Given the description of an element on the screen output the (x, y) to click on. 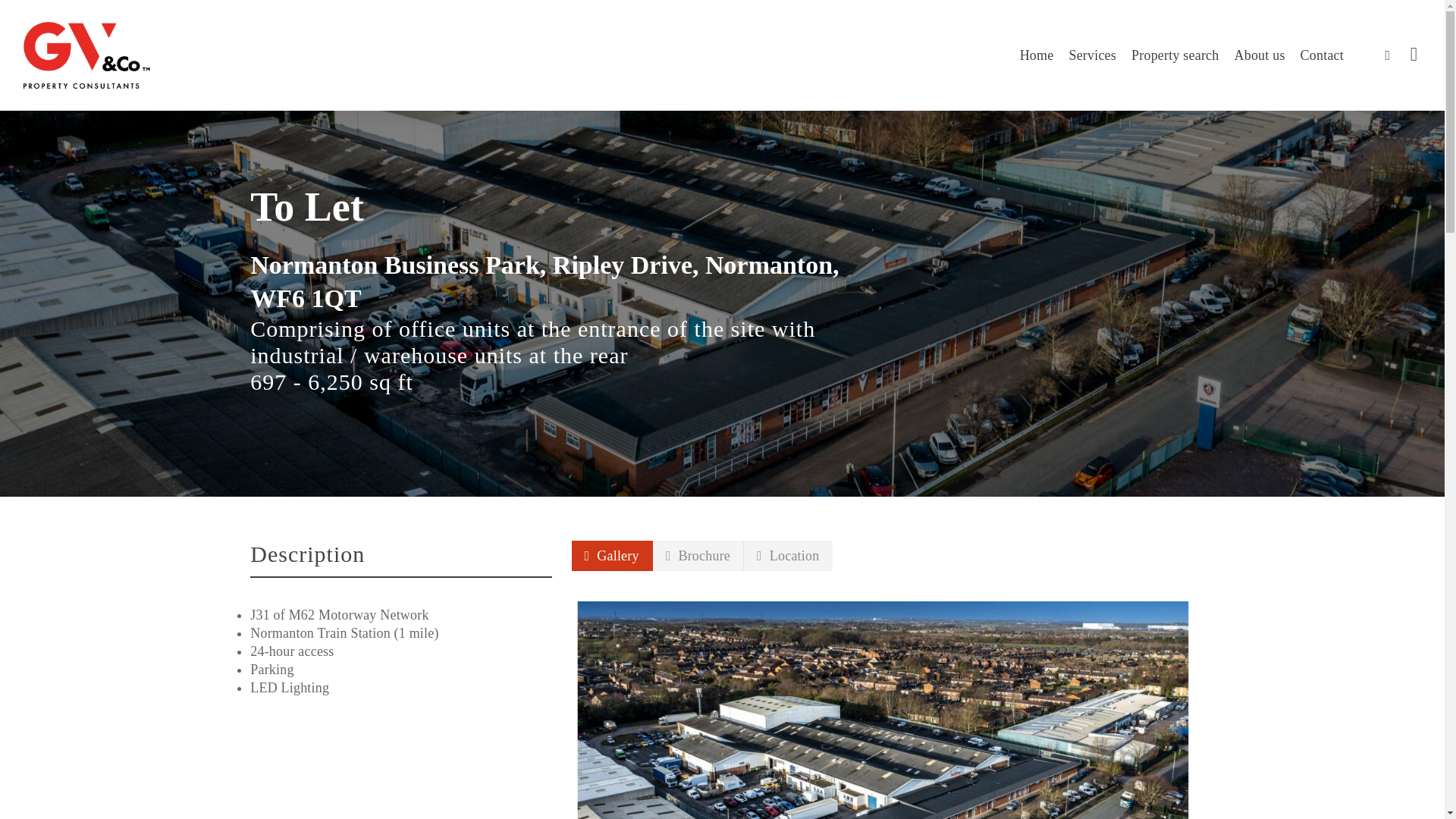
Location (788, 555)
Brochure (698, 555)
About us (1259, 54)
Property search (1174, 54)
Home (1037, 54)
Gallery (612, 555)
Services (1092, 54)
Contact (1321, 54)
